Given the description of an element on the screen output the (x, y) to click on. 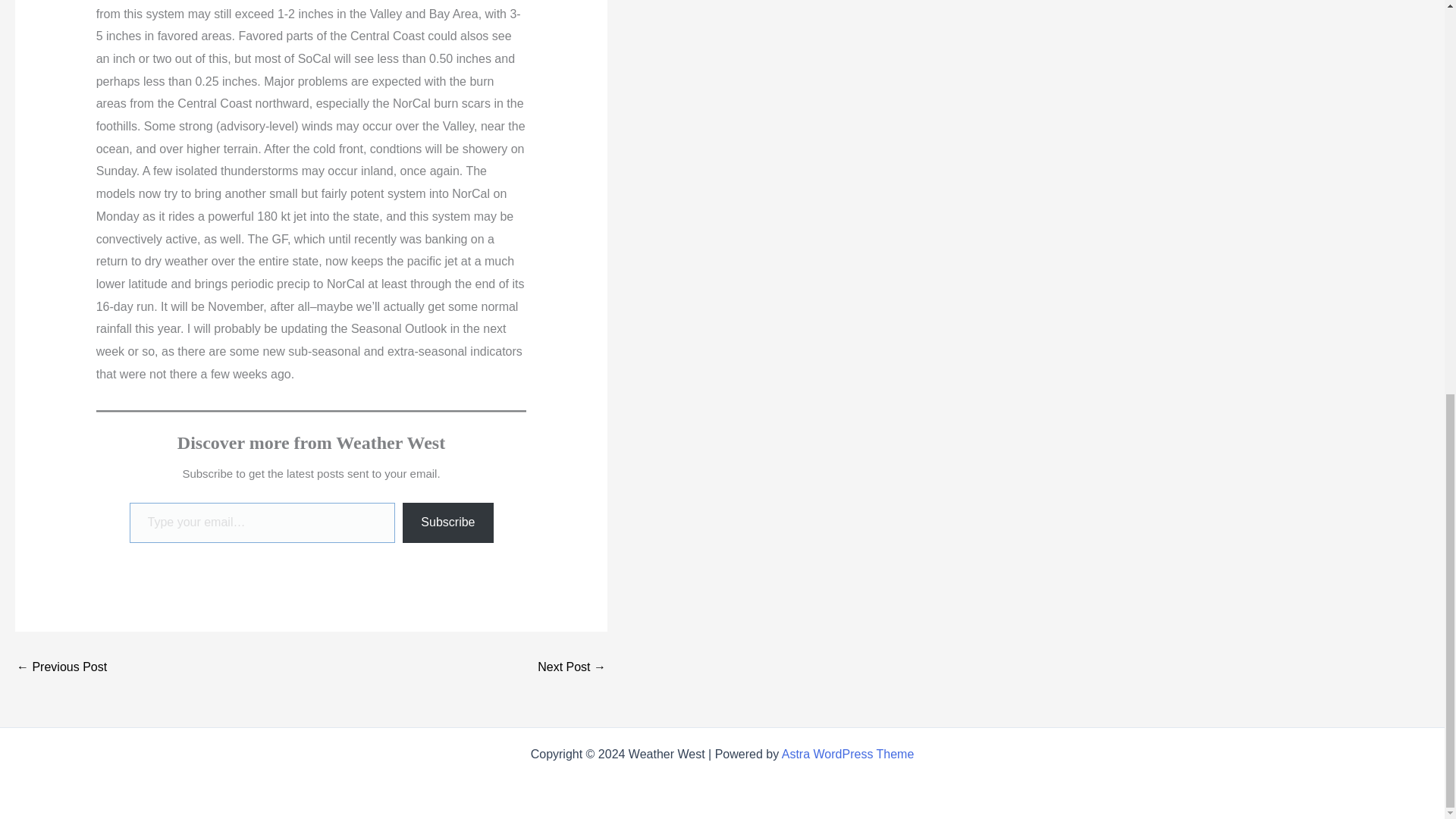
Major storm for NorCal; rain for all? (61, 666)
Please fill in this field. (261, 522)
Subscribe (448, 522)
Some rain today; no big storms for the next week or so. (571, 666)
Astra WordPress Theme (847, 753)
